Given the description of an element on the screen output the (x, y) to click on. 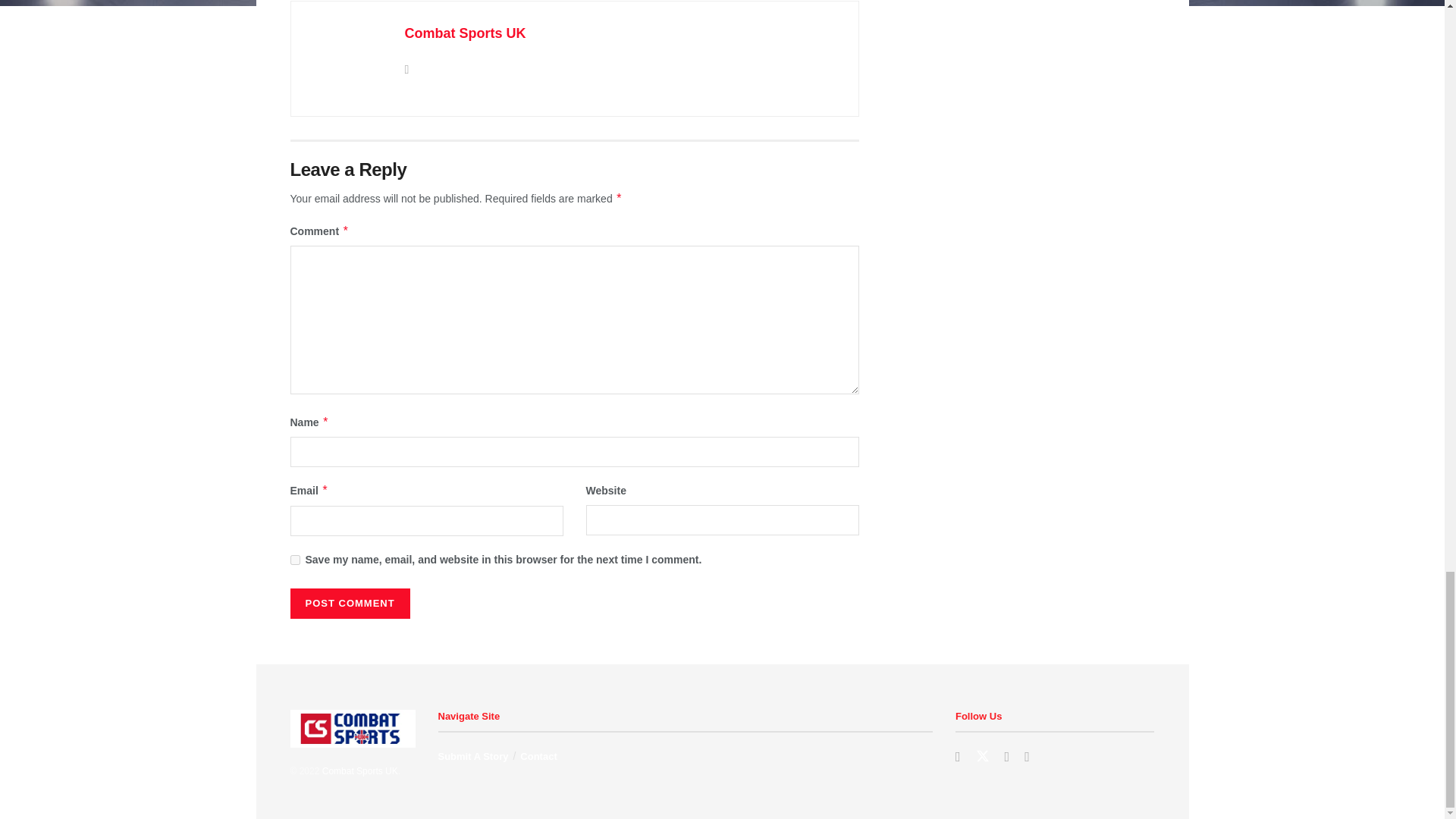
Post Comment (349, 603)
yes (294, 560)
Your main source of UK combat sports news. (359, 770)
